Given the description of an element on the screen output the (x, y) to click on. 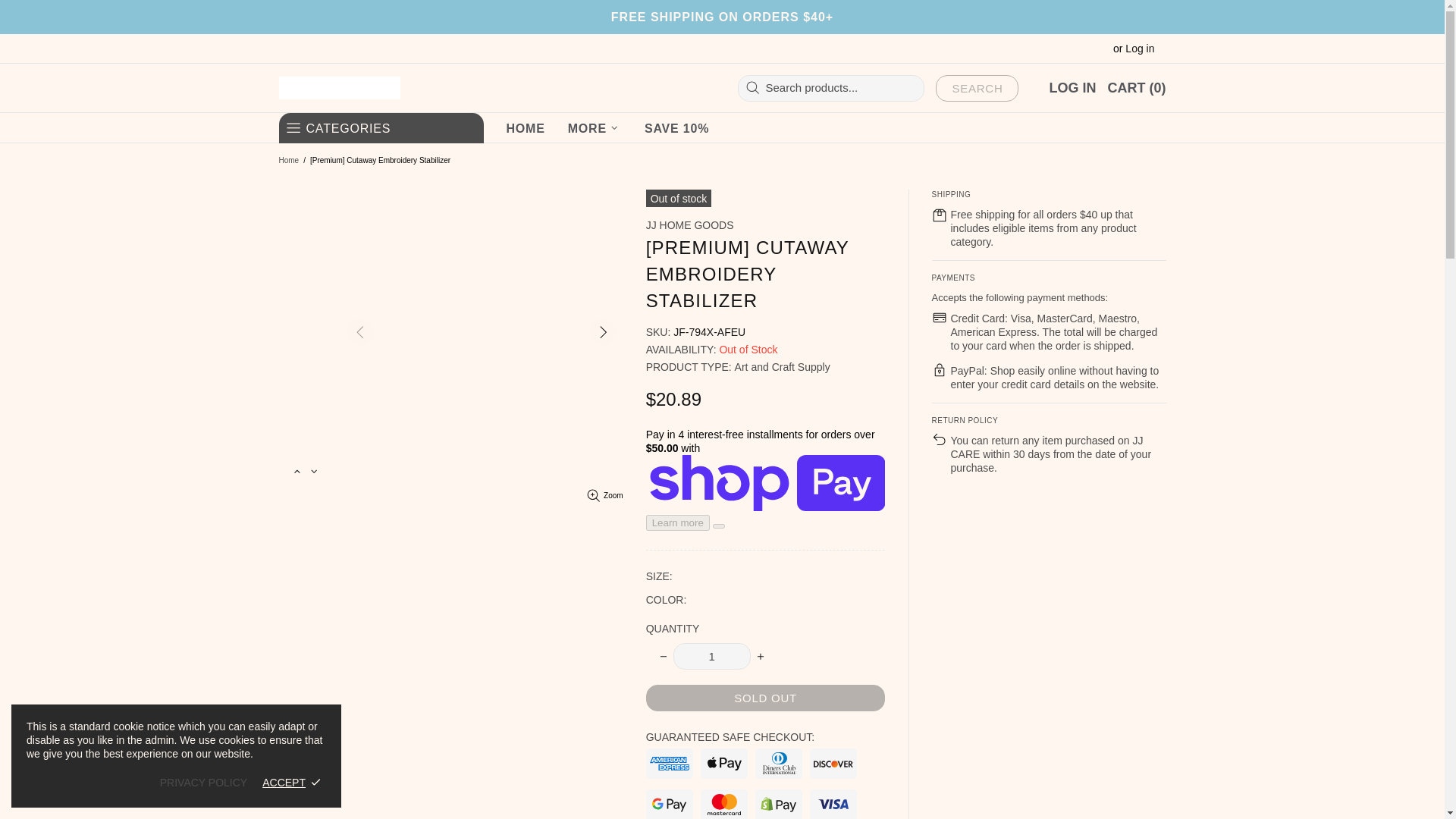
1 (711, 655)
LOG IN (1072, 88)
JJ CARE USA (339, 87)
Log in (1139, 48)
SEARCH (976, 87)
